Given the description of an element on the screen output the (x, y) to click on. 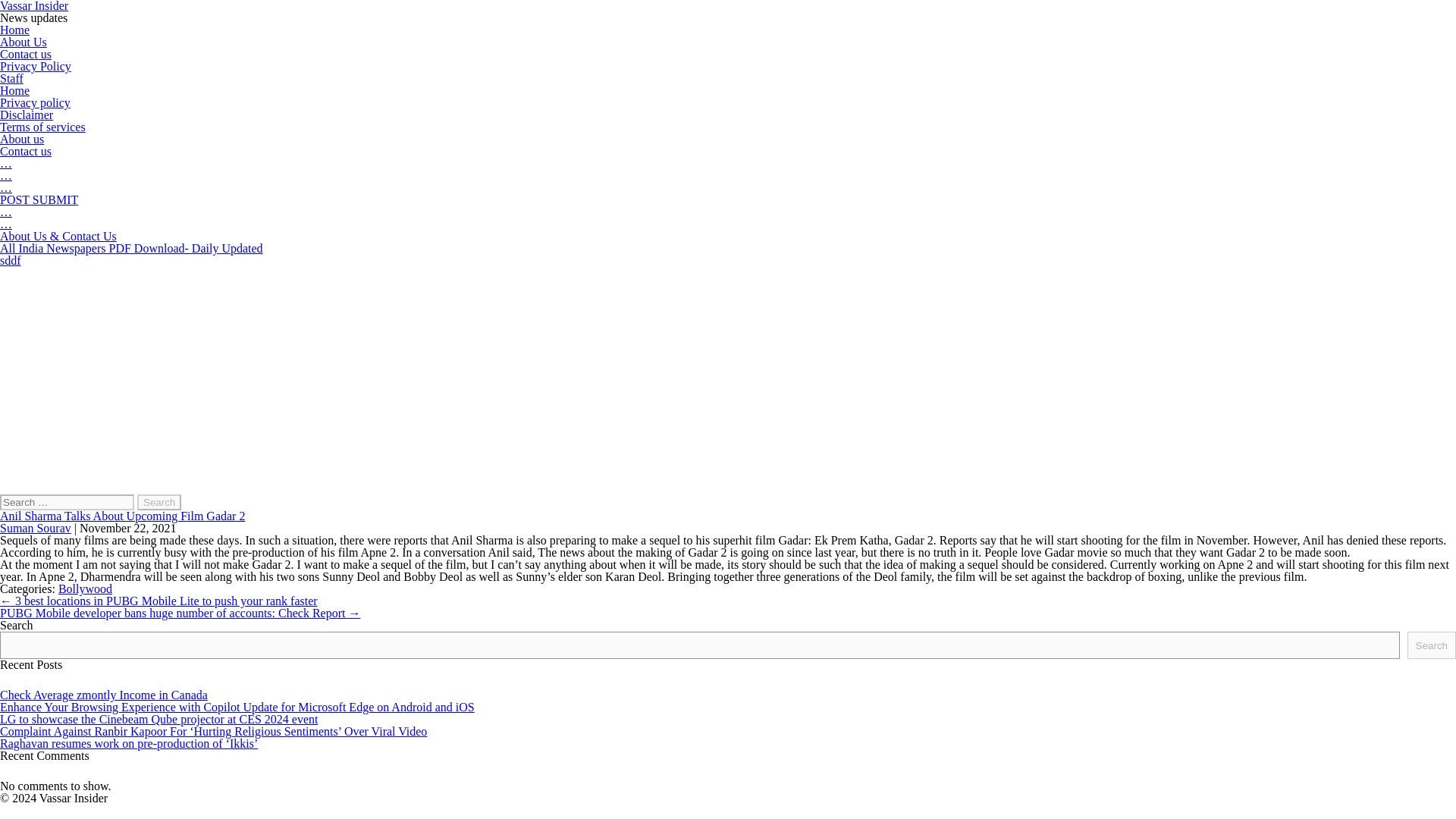
sddf (10, 259)
Vassar Insider (34, 6)
POST SUBMIT (39, 199)
Check Average zmontly Income in Canada (104, 694)
About Us (23, 42)
All India Newspapers PDF Download- Daily Updated (131, 247)
Staff (11, 78)
November 22, 2021 (128, 527)
Home (14, 90)
Search (158, 502)
